Given the description of an element on the screen output the (x, y) to click on. 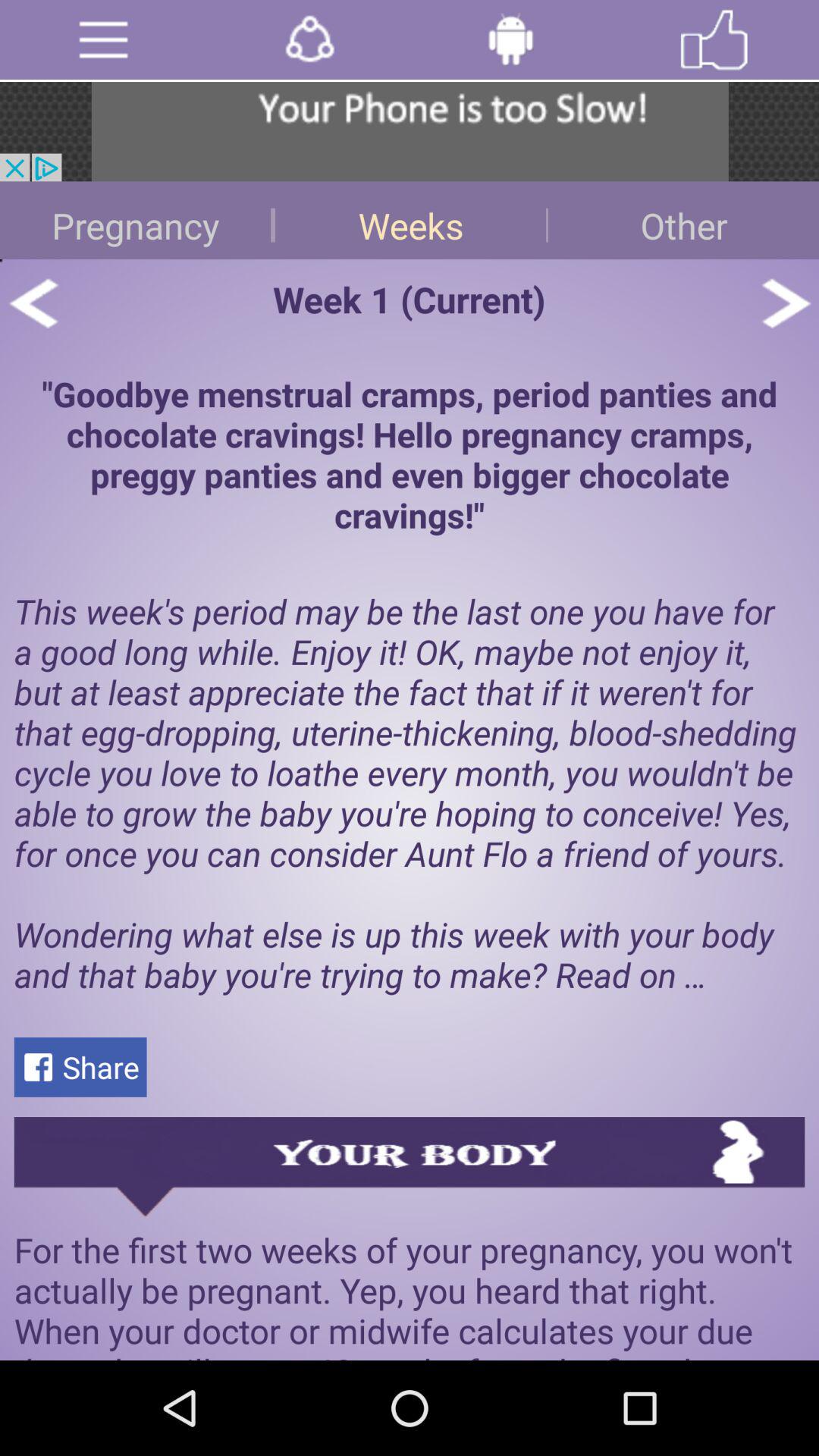
go to advertisement (409, 131)
